Given the description of an element on the screen output the (x, y) to click on. 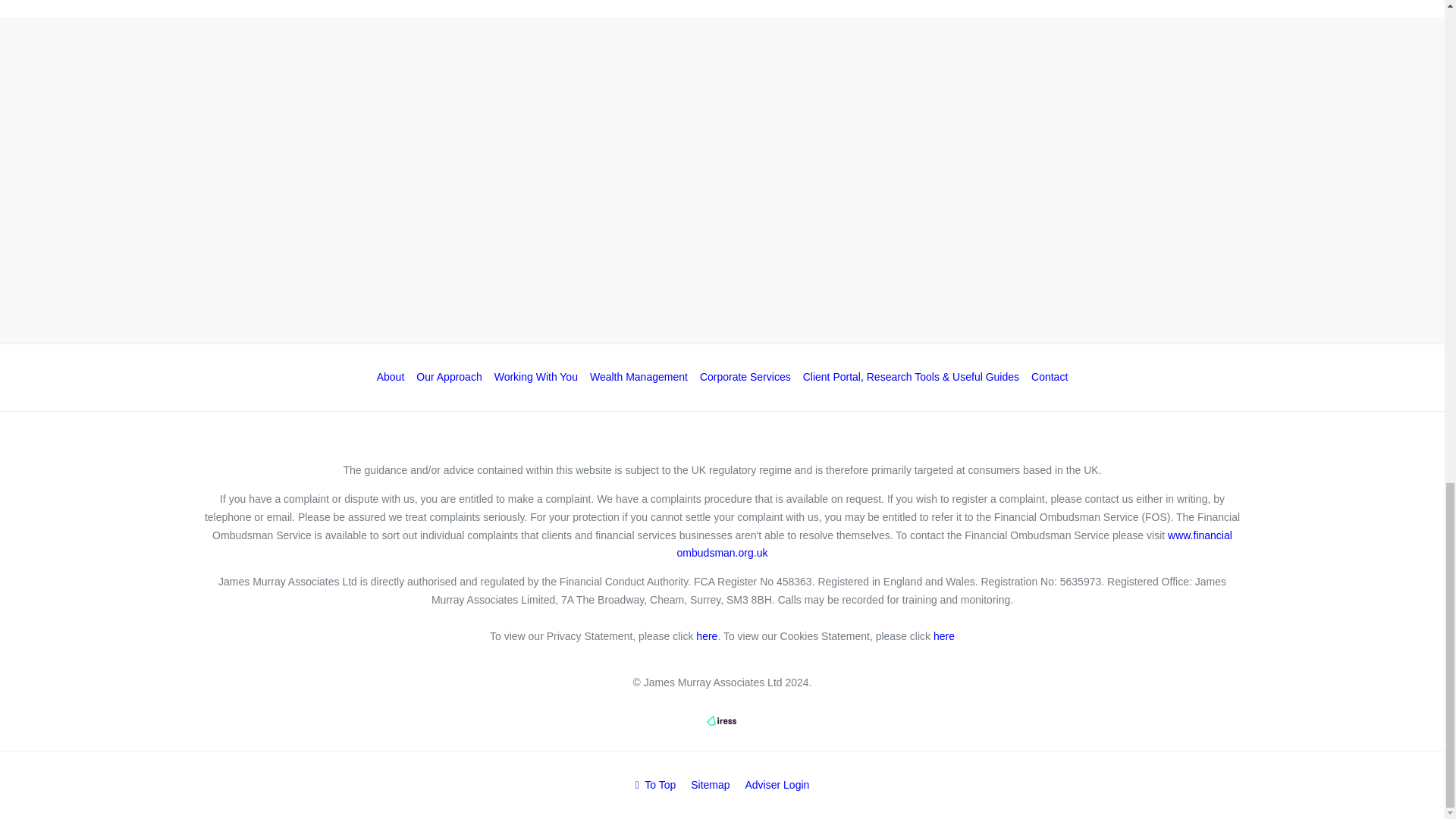
Back to top (655, 785)
Iress (721, 720)
Cookies Policy (944, 635)
Privacy Statement (706, 635)
